Given the description of an element on the screen output the (x, y) to click on. 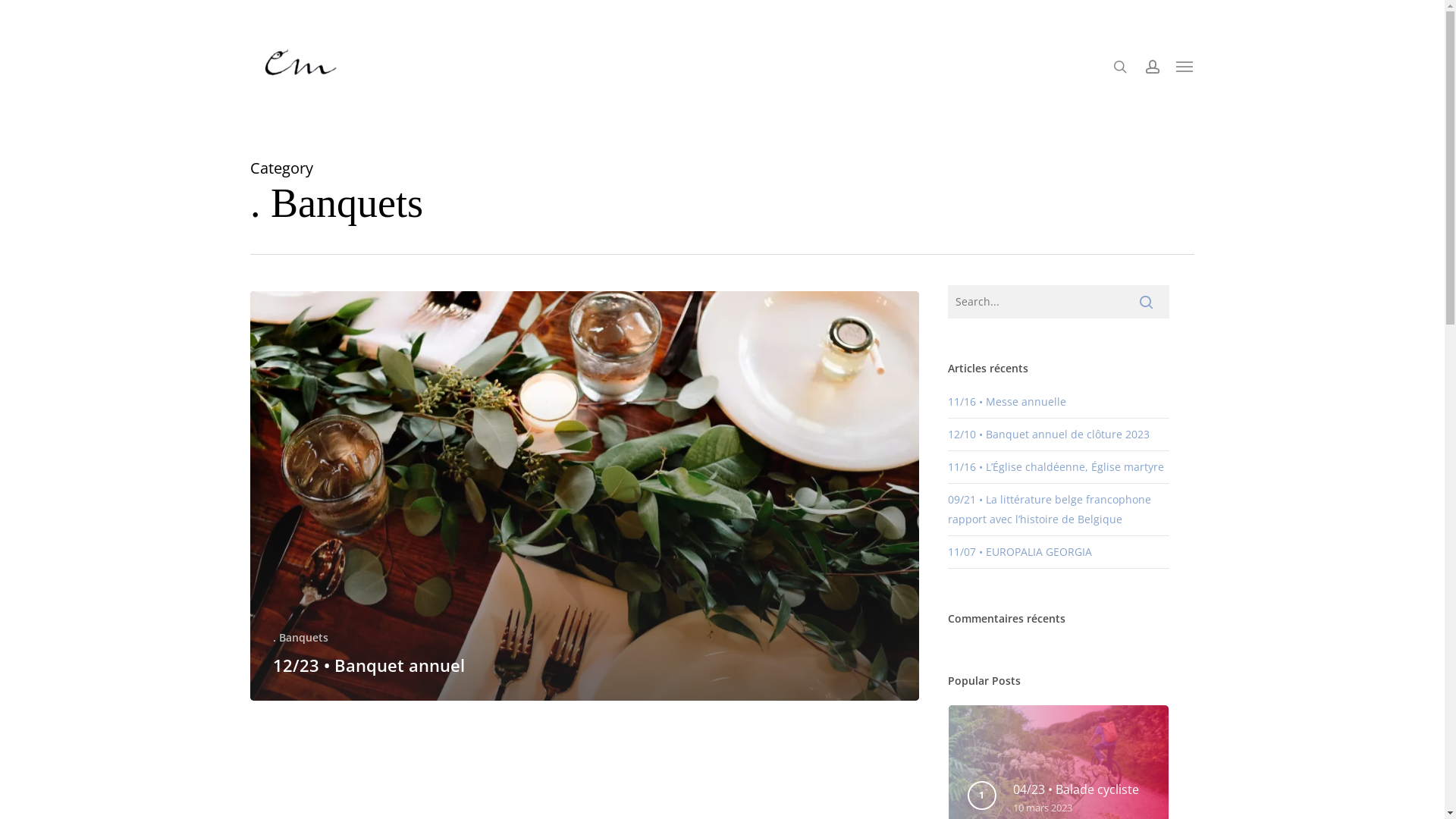
Menu Element type: text (1185, 66)
0 Element type: text (1177, 73)
search Element type: text (1119, 66)
Search for: Element type: hover (1058, 301)
. Banquets Element type: text (300, 637)
account Element type: text (1152, 66)
